Given the description of an element on the screen output the (x, y) to click on. 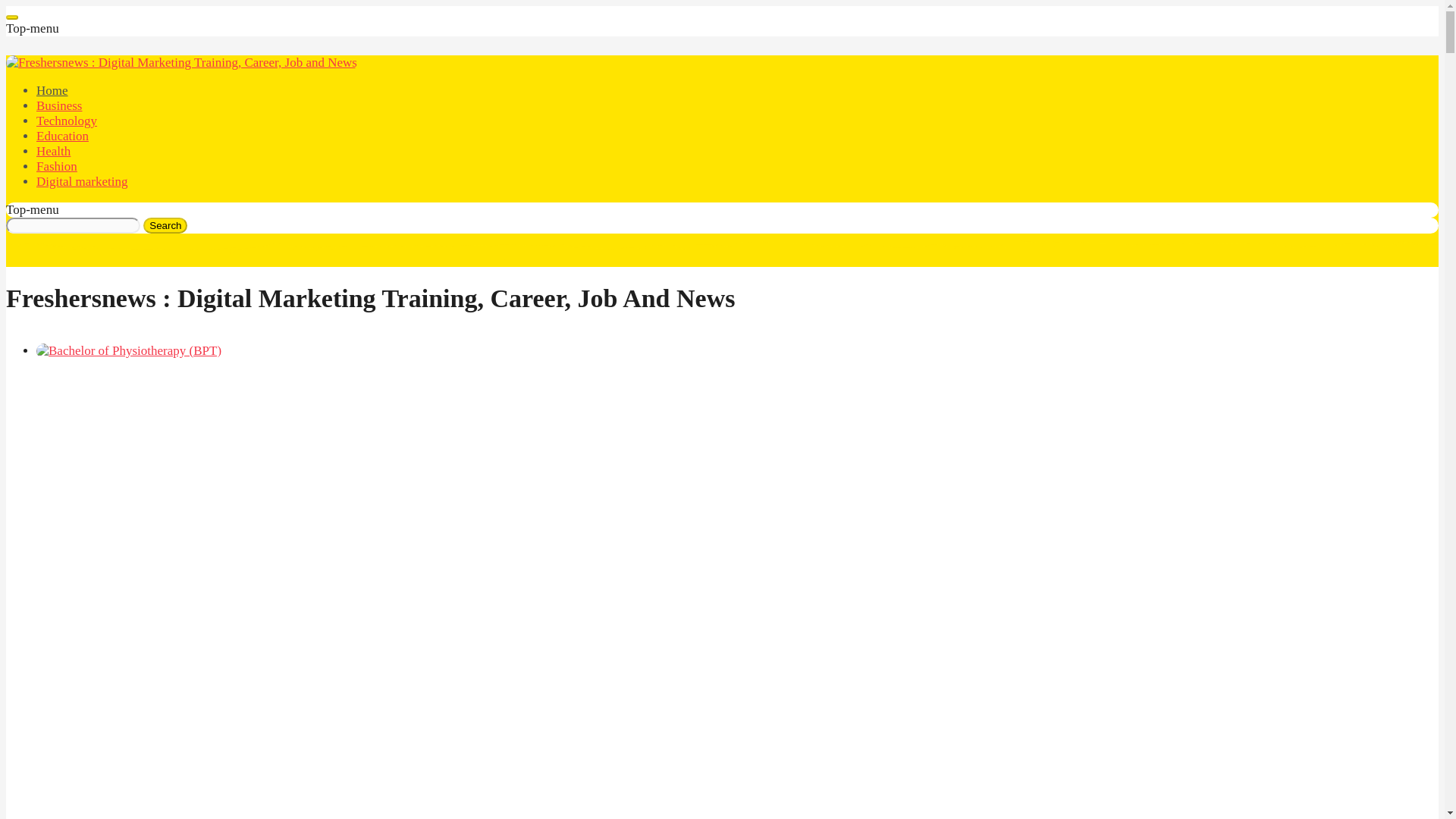
Education (62, 135)
Digital marketing (82, 181)
Home (52, 90)
Business (58, 105)
Fashion (56, 165)
Health (52, 151)
Search (164, 225)
Technology (66, 120)
